Given the description of an element on the screen output the (x, y) to click on. 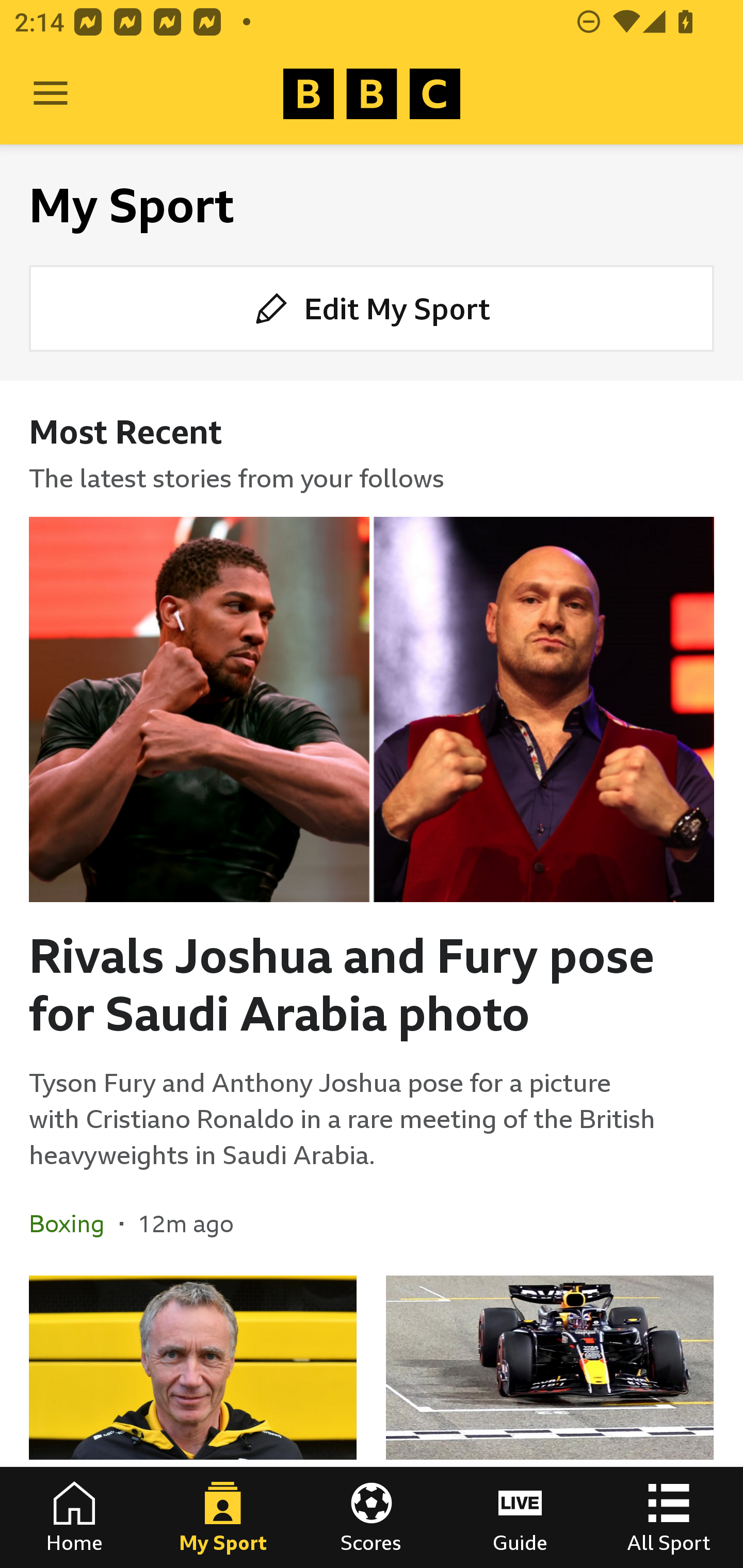
Open Menu (50, 93)
Edit My Sport (371, 307)
Engineer Bell leaves struggling Alpine (192, 1421)
Home (74, 1517)
Scores (371, 1517)
Guide (519, 1517)
All Sport (668, 1517)
